Given the description of an element on the screen output the (x, y) to click on. 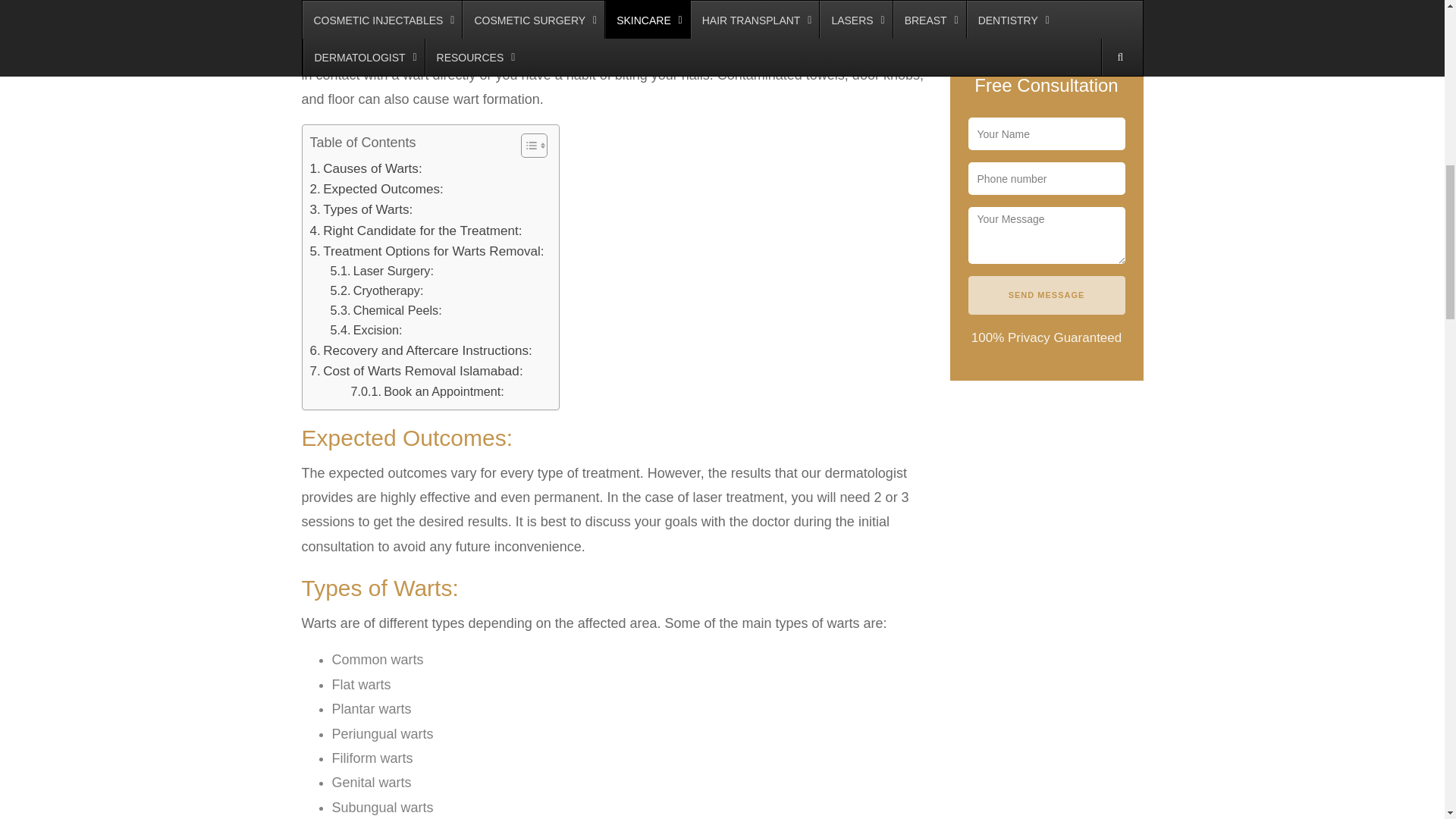
Types of Warts: (360, 209)
Cryotherapy: (376, 291)
Excision: (366, 330)
Treatment Options for Warts Removal: (425, 250)
Cost of Warts Removal Islamabad: (415, 371)
Laser Surgery: (381, 271)
Recovery and Aftercare Instructions: (419, 350)
Book an Appointment: (426, 392)
Right Candidate for the Treatment: (414, 230)
Expected Outcomes: (375, 189)
